Given the description of an element on the screen output the (x, y) to click on. 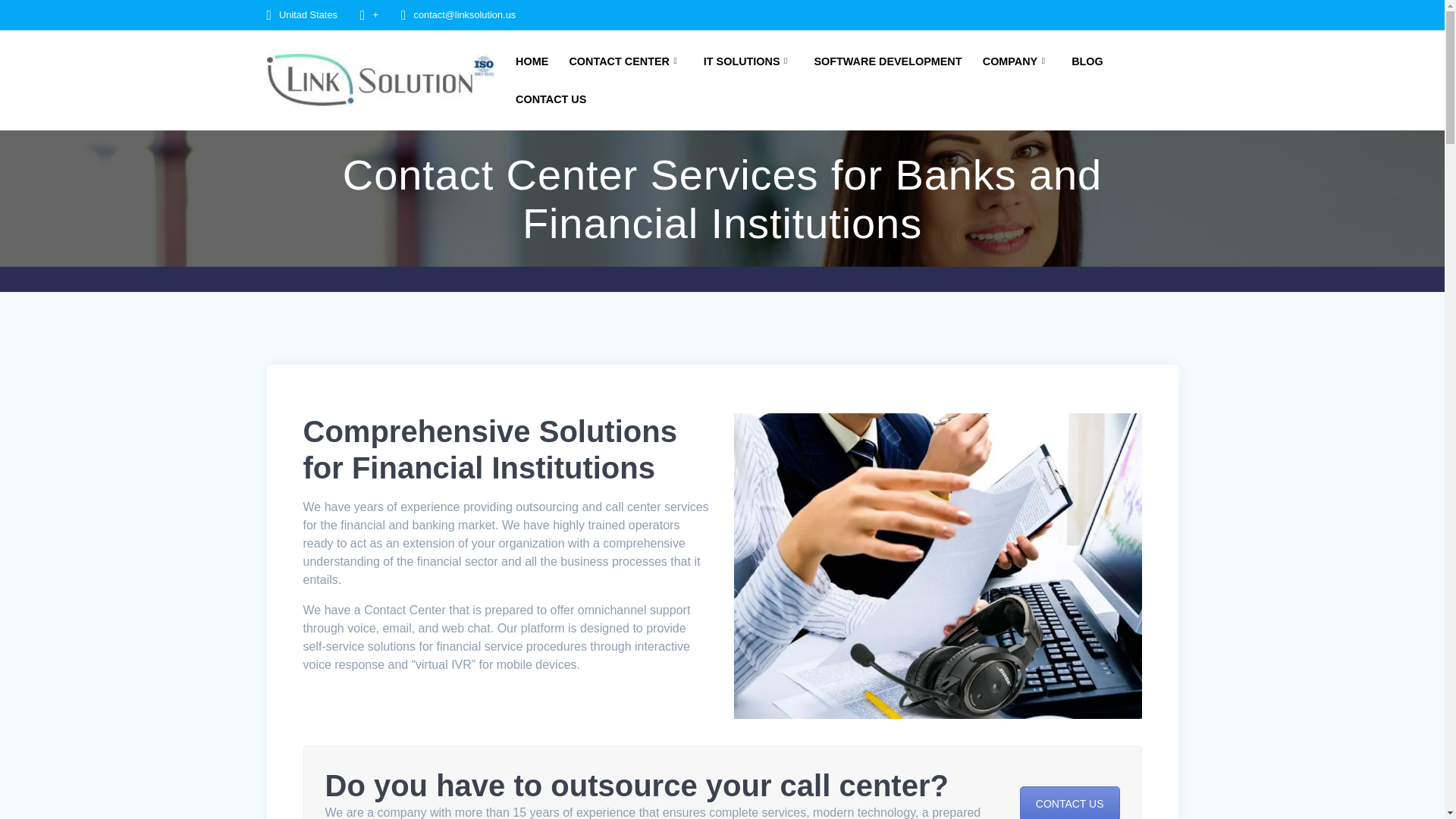
BLOG (1087, 61)
CONTACT CENTER (625, 61)
SOFTWARE DEVELOPMENT (886, 61)
HOME (531, 61)
COMPANY (1016, 61)
CONTACT US (550, 99)
IT SOLUTIONS (748, 61)
CONTACT US (1069, 802)
